Given the description of an element on the screen output the (x, y) to click on. 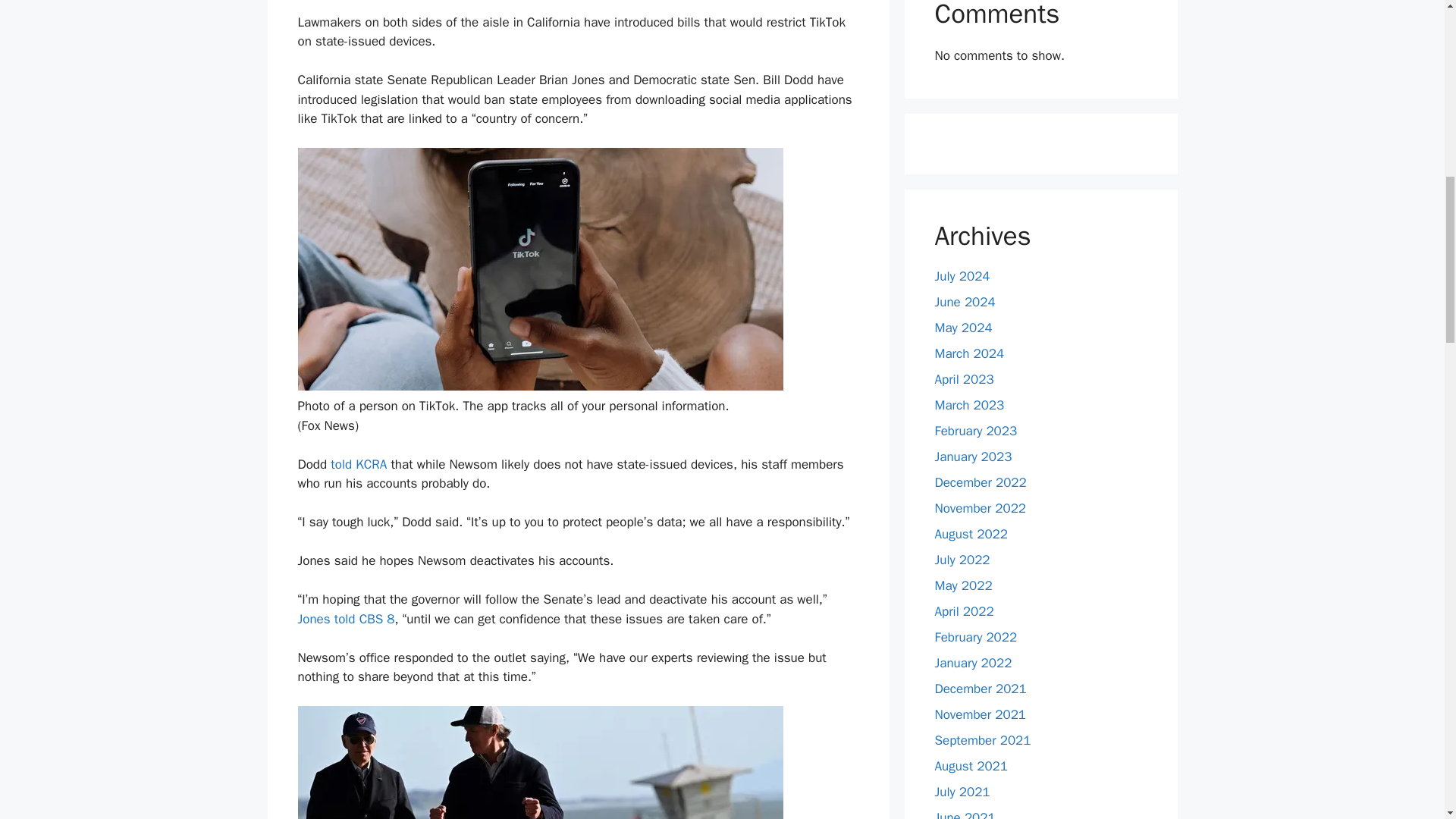
March 2023 (969, 405)
August 2022 (970, 534)
January 2023 (972, 456)
February 2023 (975, 430)
May 2024 (962, 327)
March 2024 (969, 353)
December 2022 (980, 482)
November 2022 (980, 508)
July 2024 (962, 276)
July 2022 (962, 560)
